Given the description of an element on the screen output the (x, y) to click on. 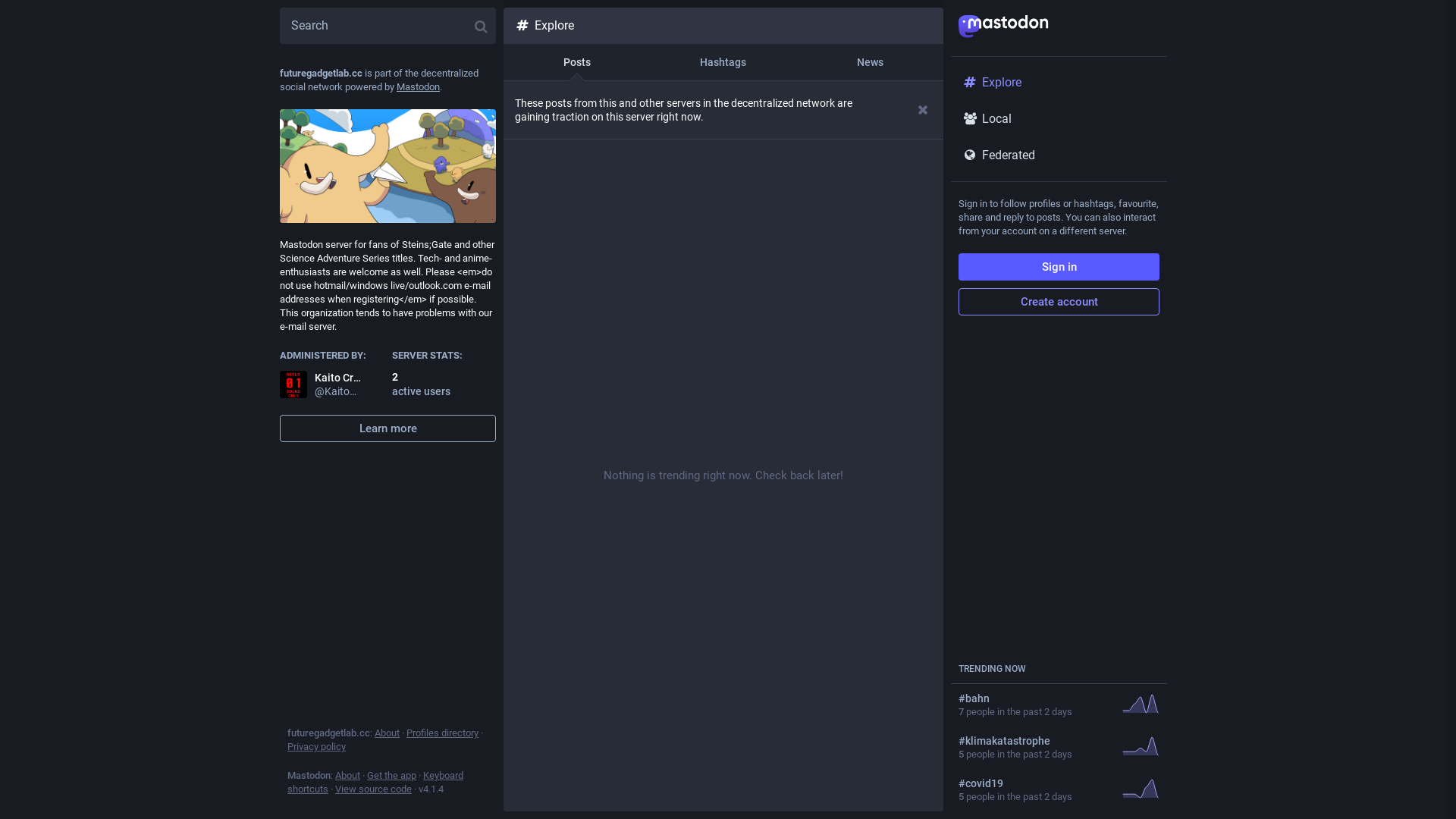
TRENDING NOW Element type: text (992, 668)
Create account Element type: text (1058, 301)
Federated Element type: text (1058, 155)
Keyboard shortcuts Element type: text (375, 781)
Hashtags Element type: text (722, 61)
Kaito Cross
@KaitoCross Element type: text (320, 384)
Explore Element type: text (723, 25)
View source code Element type: text (373, 788)
Get the app Element type: text (391, 775)
Local Element type: text (1058, 118)
Profiles directory Element type: text (442, 732)
Posts Element type: text (576, 61)
About Element type: text (347, 775)
Sign in Element type: text (1058, 266)
Mastodon Element type: text (417, 86)
Explore Element type: text (1058, 82)
News Element type: text (870, 61)
#klimakatastrophe Element type: text (1034, 740)
Privacy policy Element type: text (316, 746)
Learn more Element type: text (387, 428)
About Element type: text (386, 732)
Dismiss Element type: hover (922, 109)
#bahn Element type: text (1034, 698)
#covid19 Element type: text (1034, 783)
